Given the description of an element on the screen output the (x, y) to click on. 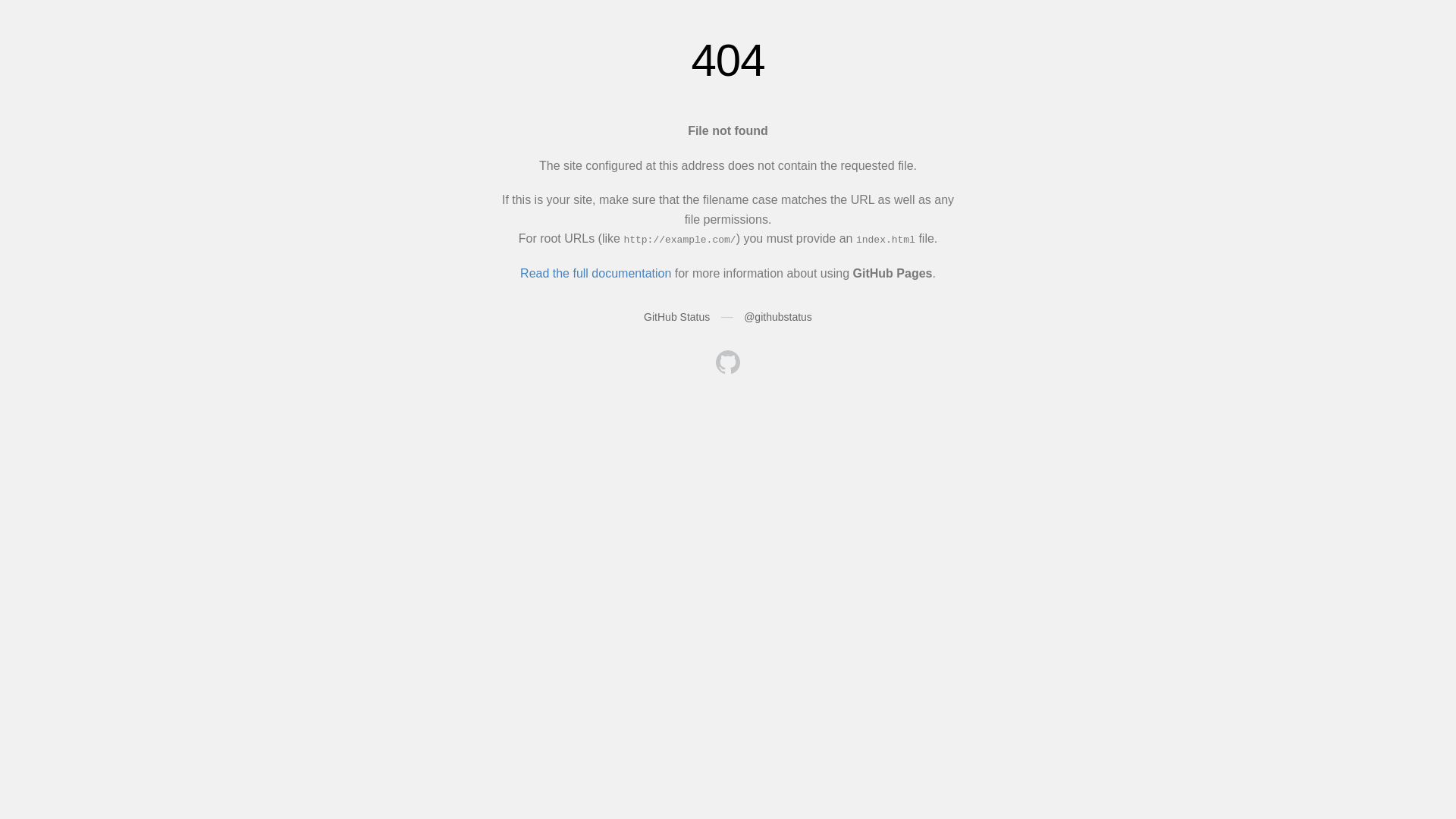
@githubstatus Element type: text (777, 316)
Read the full documentation Element type: text (595, 272)
GitHub Status Element type: text (676, 316)
